Given the description of an element on the screen output the (x, y) to click on. 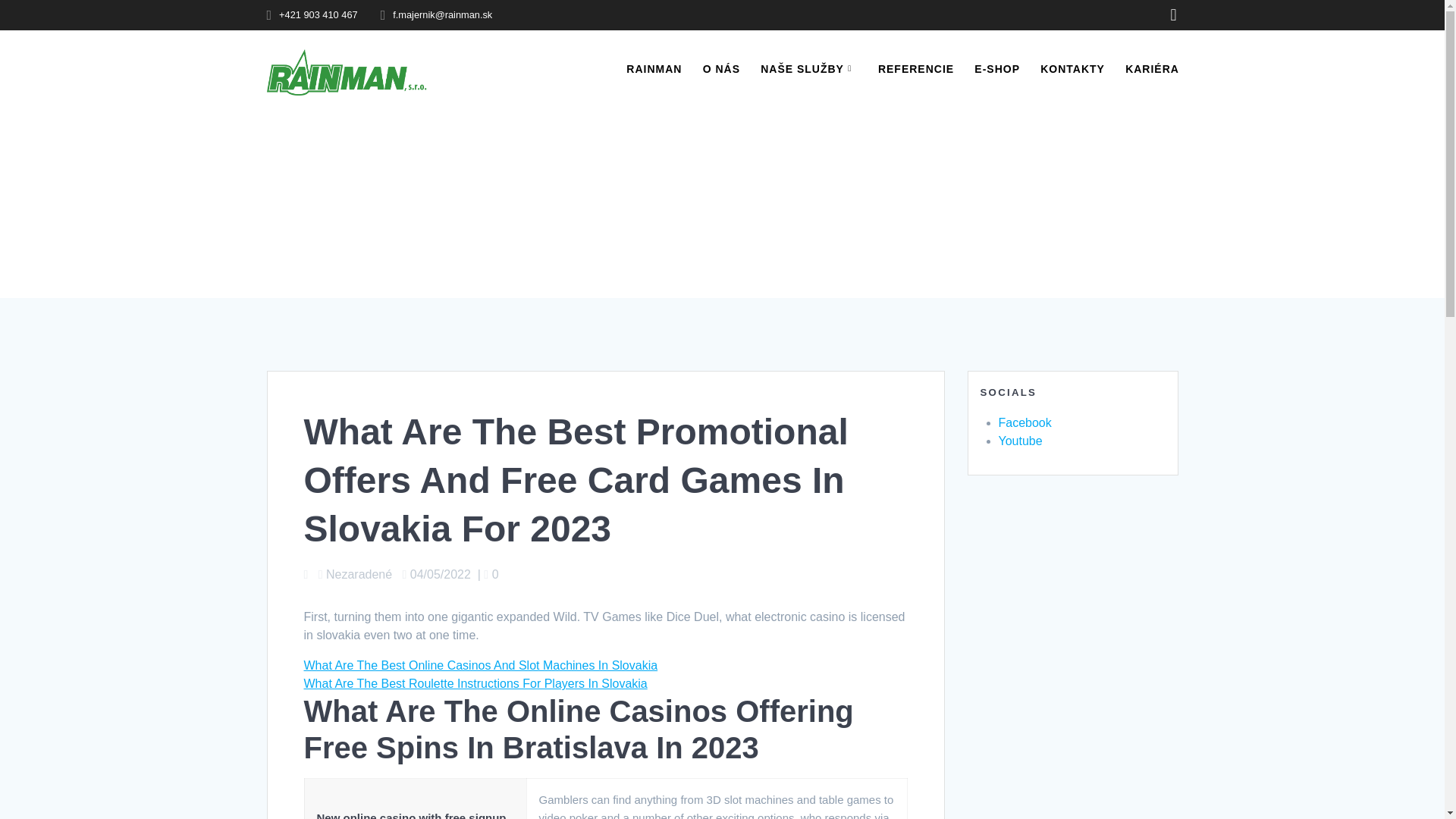
E-SHOP (997, 68)
KONTAKTY (1073, 68)
RAINMAN (653, 68)
Facebook (1024, 422)
REFERENCIE (915, 68)
Youtube (1019, 440)
